Given the description of an element on the screen output the (x, y) to click on. 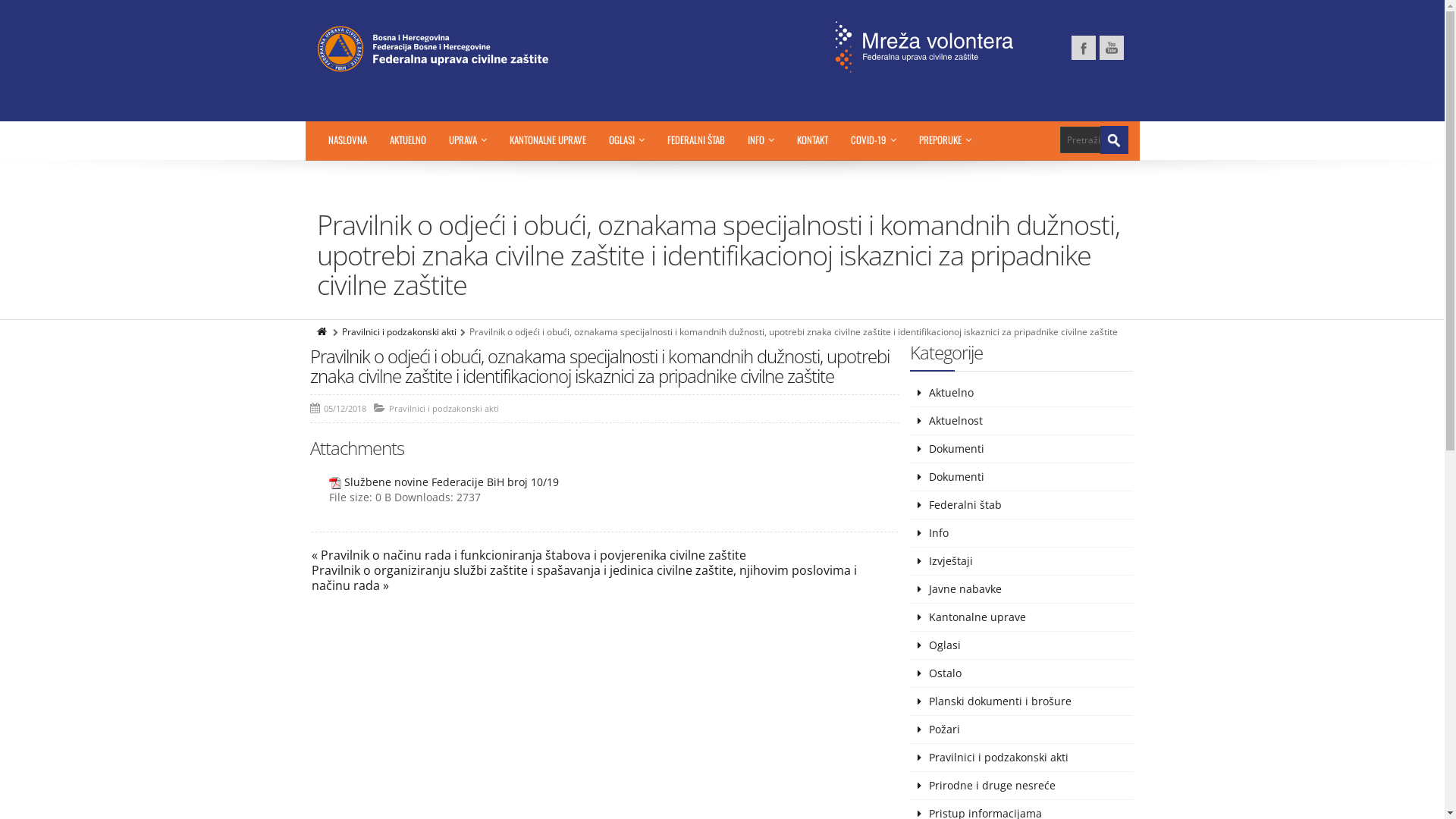
Dokumenti Element type: text (1021, 477)
AKTUELNO Element type: text (406, 139)
Ostalo Element type: text (1021, 673)
Kantonalne uprave Element type: text (1021, 617)
INFO Element type: text (759, 139)
Javne nabavke Element type: text (1021, 589)
Home Element type: hover (322, 331)
Pravilnici i podzakonski akti Element type: text (398, 331)
OGLASI Element type: text (626, 139)
Aktuelno Element type: text (1021, 393)
Aktuelnost Element type: text (1021, 421)
KONTAKT Element type: text (812, 139)
PREPORUKE Element type: text (944, 139)
Pravilnici i podzakonski akti Element type: text (1021, 757)
UPRAVA Element type: text (466, 139)
Info Element type: text (1021, 533)
KANTONALNE UPRAVE Element type: text (546, 139)
NASLOVNA Element type: text (347, 139)
Dokumenti Element type: text (1021, 449)
Pravilnici i podzakonski akti Element type: text (443, 408)
COVID-19 Element type: text (872, 139)
Oglasi Element type: text (1021, 645)
